Given the description of an element on the screen output the (x, y) to click on. 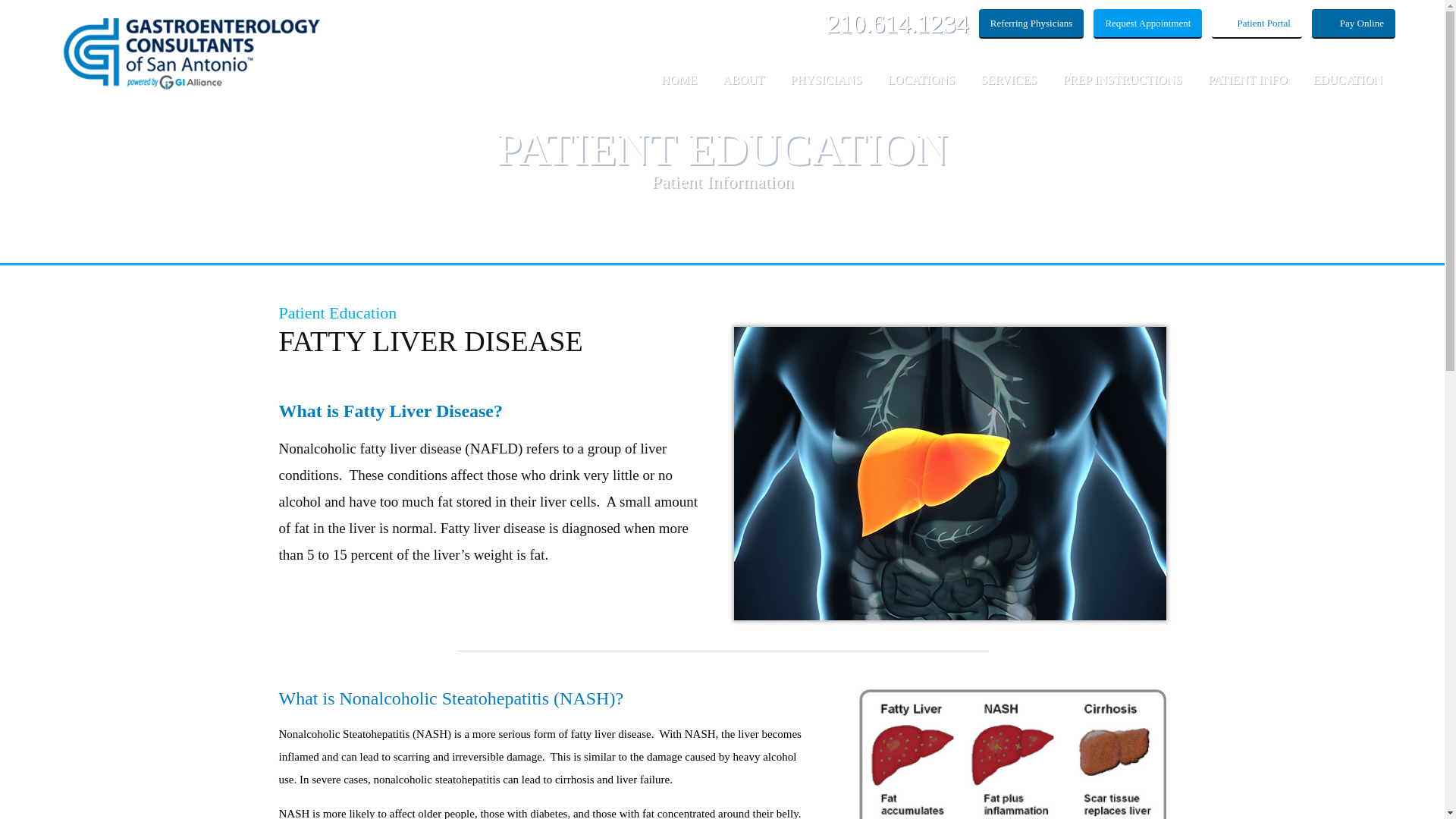
SERVICES (1008, 88)
210.614.1234 (898, 23)
PHYSICIANS (826, 88)
Referring Physicians (1031, 23)
ABOUT (743, 88)
Pay Online (1352, 23)
LOCATIONS (921, 88)
HOME (678, 88)
Patient Portal (1256, 23)
Request Appointment (1147, 23)
